Given the description of an element on the screen output the (x, y) to click on. 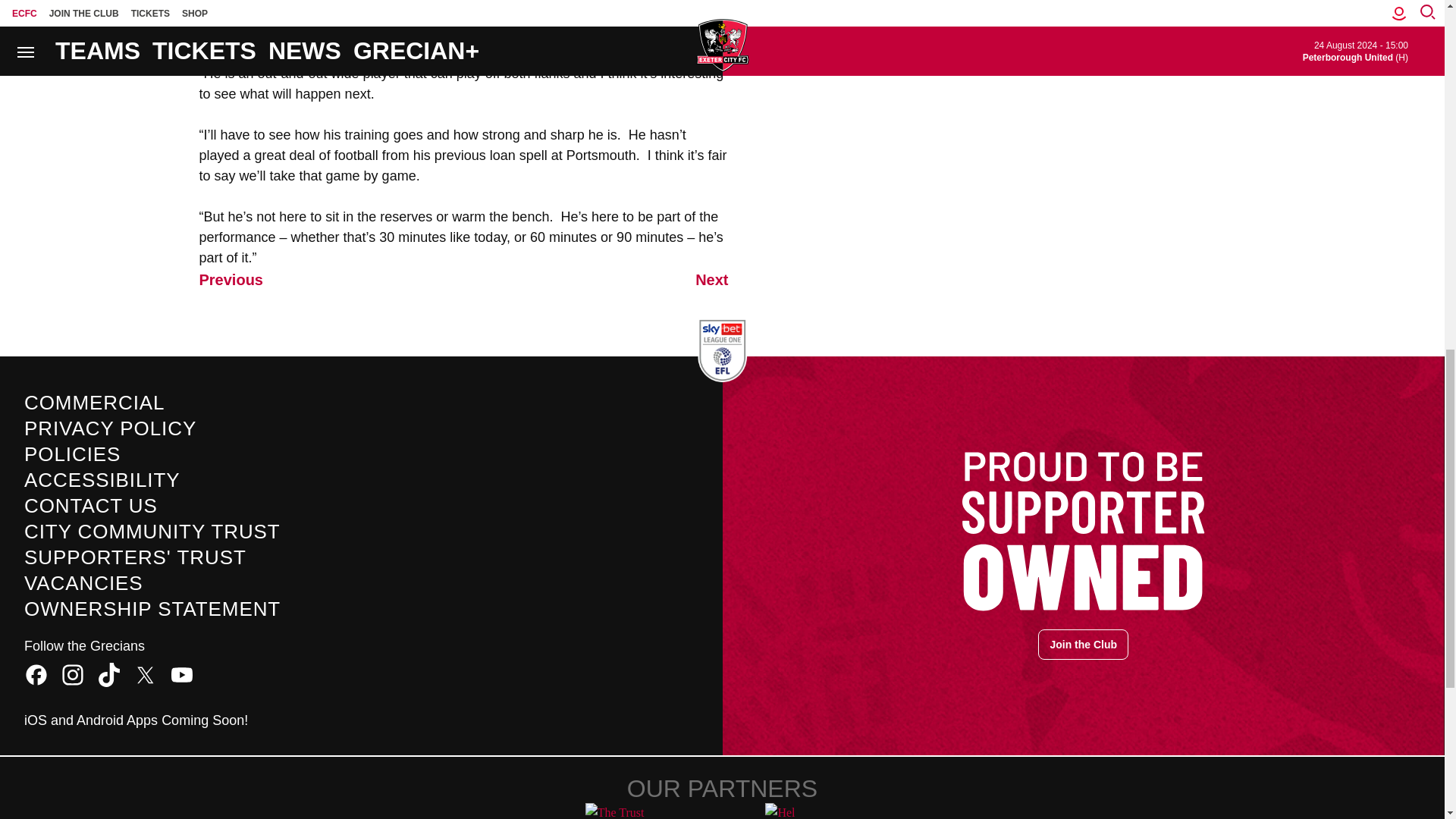
TikTok icon (108, 674)
X Formally know as Twitter (145, 674)
HEL (812, 811)
Instagram (72, 674)
Facebook (36, 674)
The Trust (632, 811)
